Given the description of an element on the screen output the (x, y) to click on. 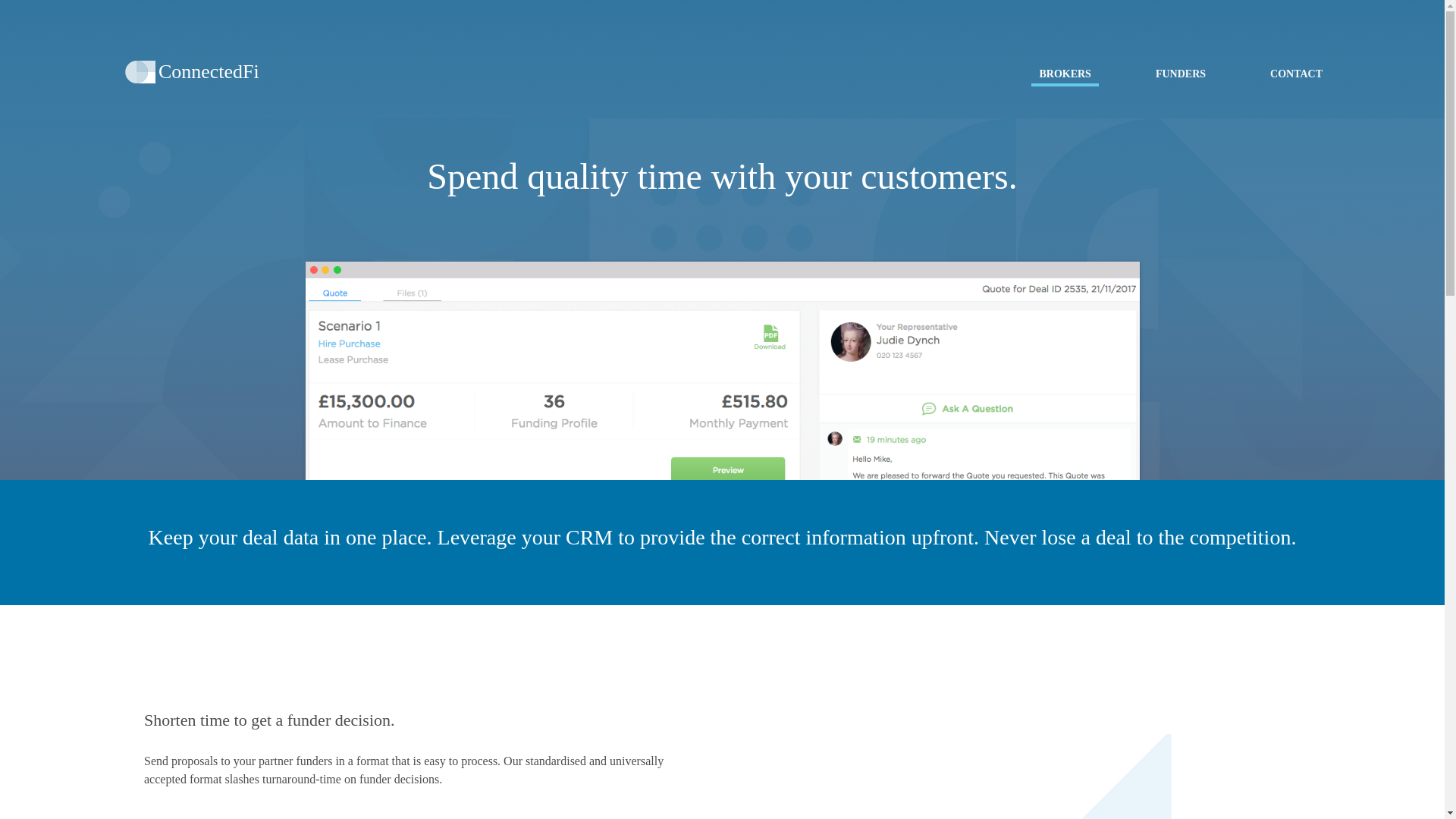
CONTACT (1296, 73)
BROKERS (1063, 75)
FUNDERS (1180, 73)
